Given the description of an element on the screen output the (x, y) to click on. 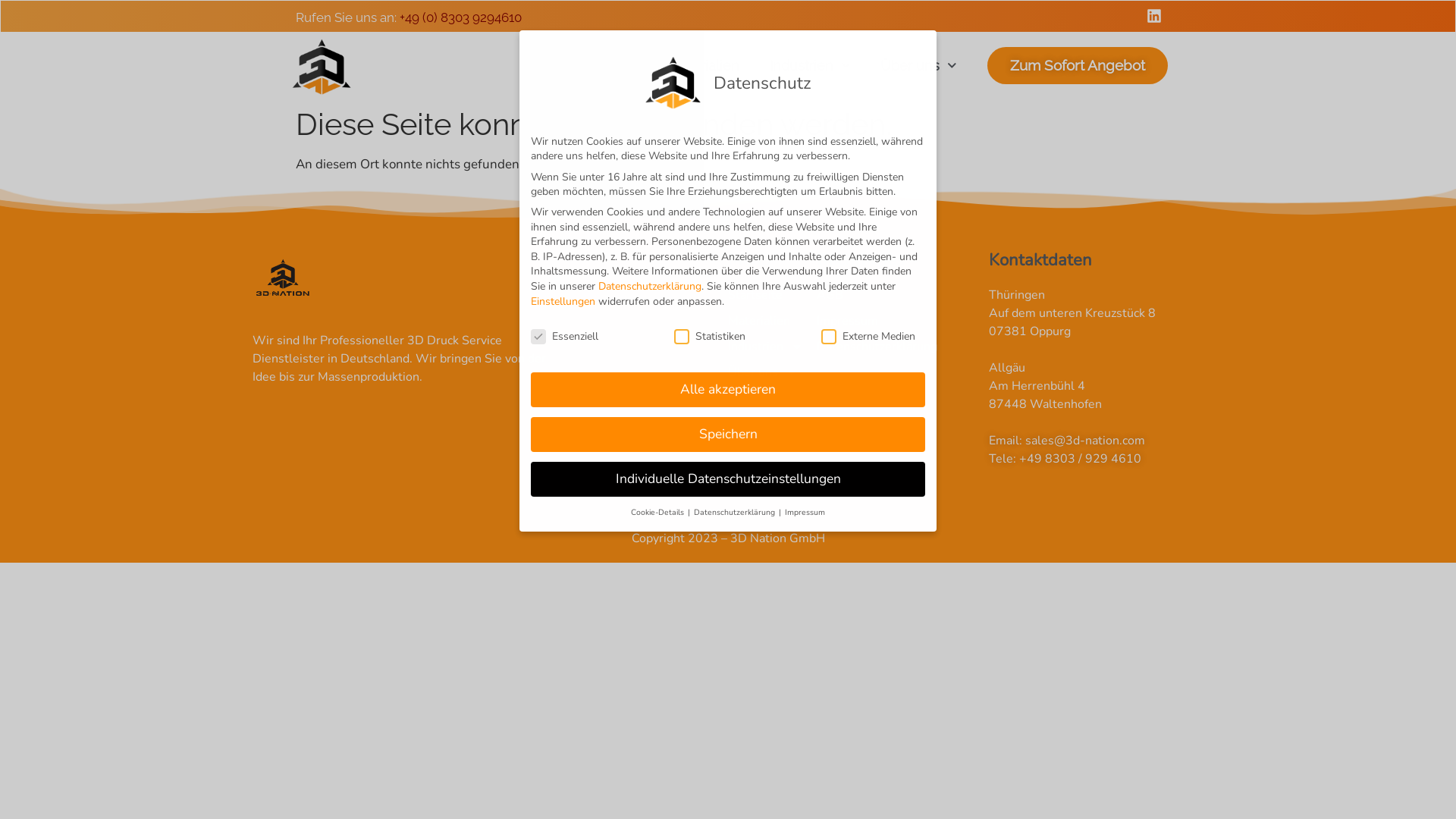
Industrien Element type: text (772, 345)
AGB Element type: text (902, 294)
+49 (0) 8303 9294610 Element type: text (460, 17)
Impressum Element type: text (902, 319)
Materialien Element type: text (772, 319)
Zum Sofort Angebot Element type: text (1077, 65)
Industrien Element type: text (810, 65)
Materialien Element type: text (703, 65)
Email: sales@3d-nation.com Element type: text (1095, 439)
Speichern Element type: text (727, 434)
Impressum Element type: text (804, 511)
Alle akzeptieren Element type: text (727, 389)
Startseite Element type: text (772, 294)
Einstellungen Element type: text (562, 301)
Individuelle Datenschutzeinstellungen Element type: text (727, 478)
Cookie-Details Element type: text (658, 511)
Startseite Element type: text (606, 65)
Tele: +49 8303 / 929 4610 Element type: text (1095, 457)
